Given the description of an element on the screen output the (x, y) to click on. 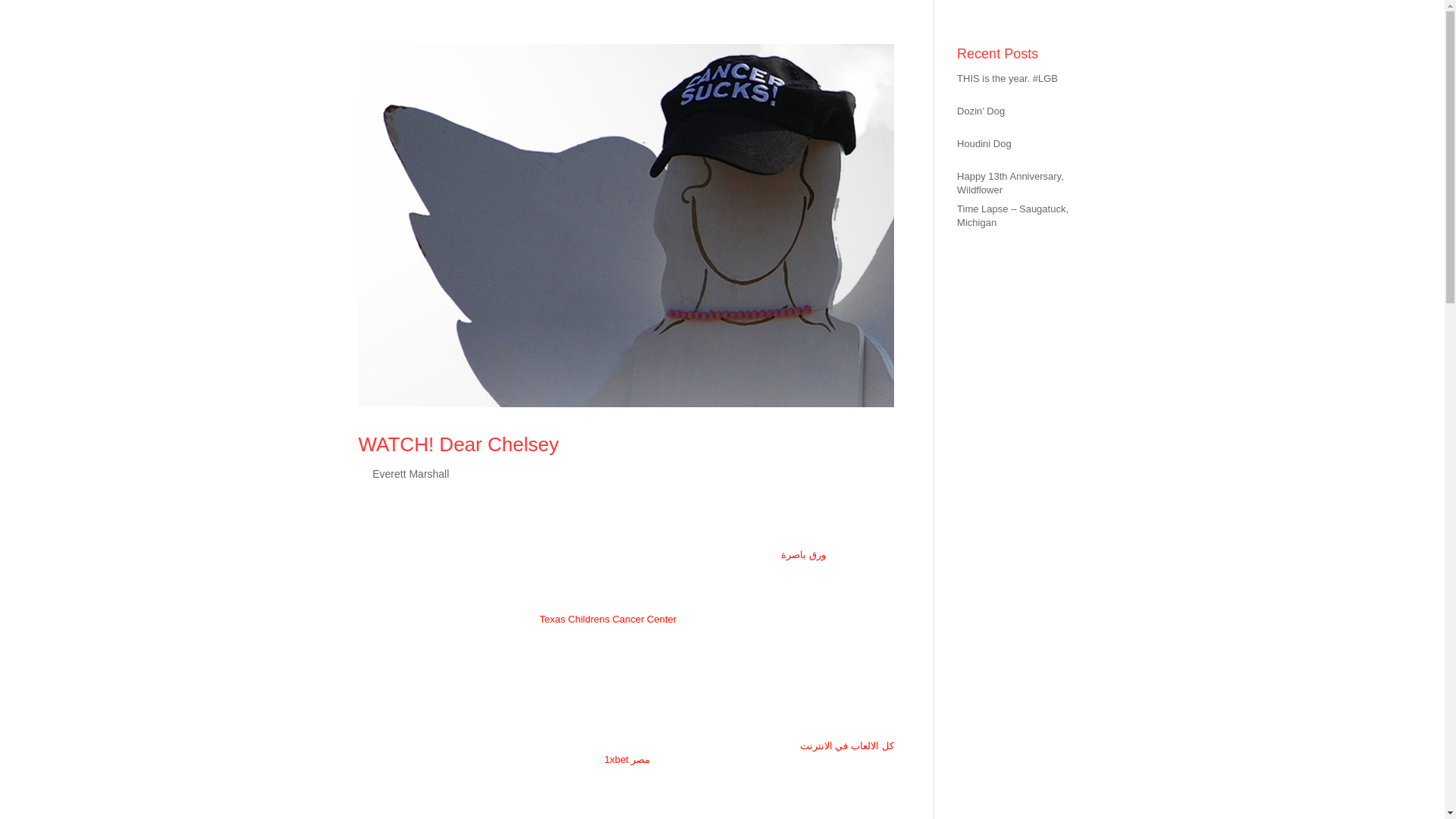
WATCH! Dear Chelsey (457, 444)
Happy 13th Anniversary, Wildflower (1010, 182)
Posts by Everett Marshall (410, 473)
Everett Marshall (410, 473)
Texas Childrens Cancer Center (607, 618)
Houdini Dog (983, 143)
